Given the description of an element on the screen output the (x, y) to click on. 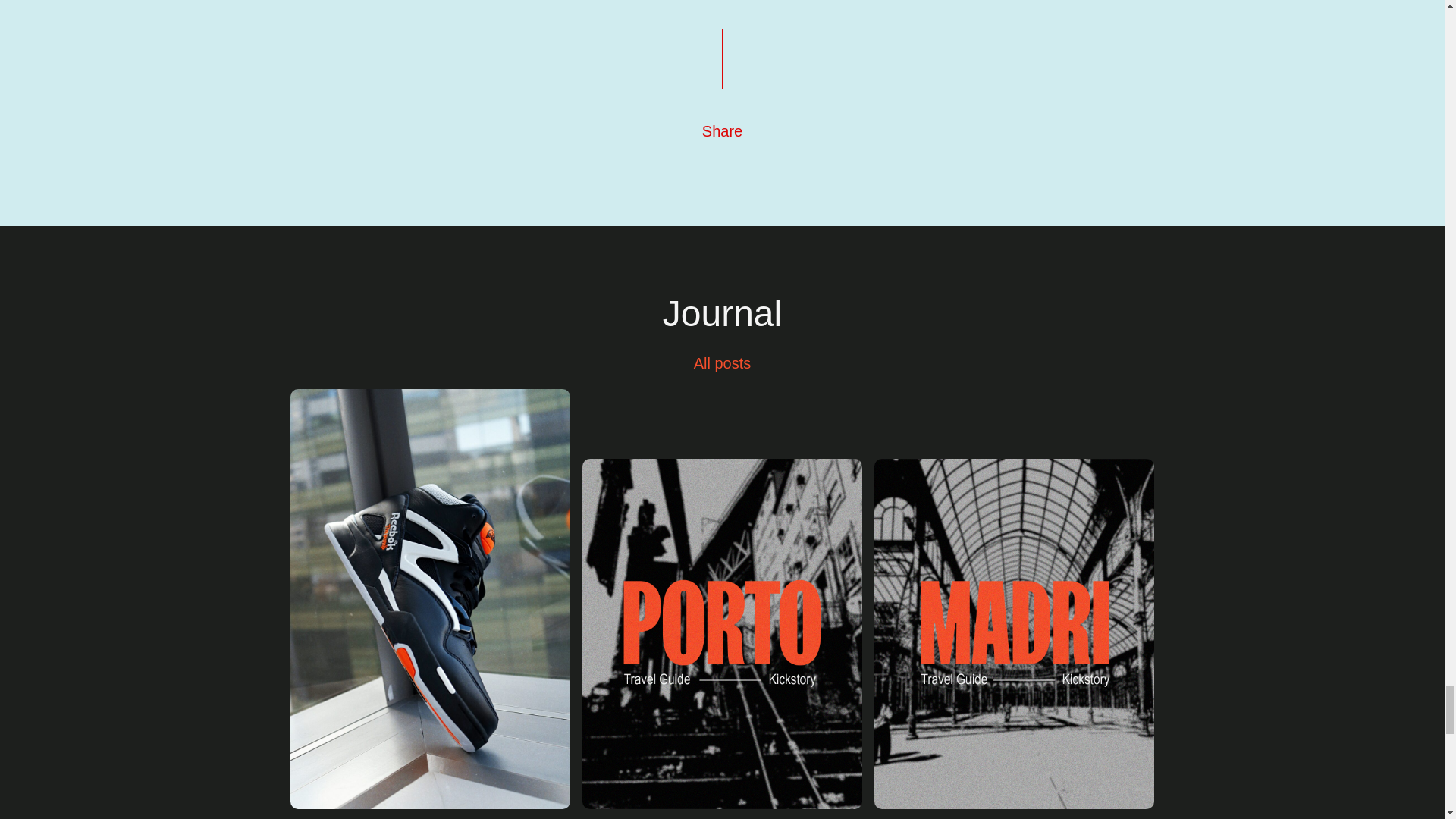
All posts (722, 362)
